Given the description of an element on the screen output the (x, y) to click on. 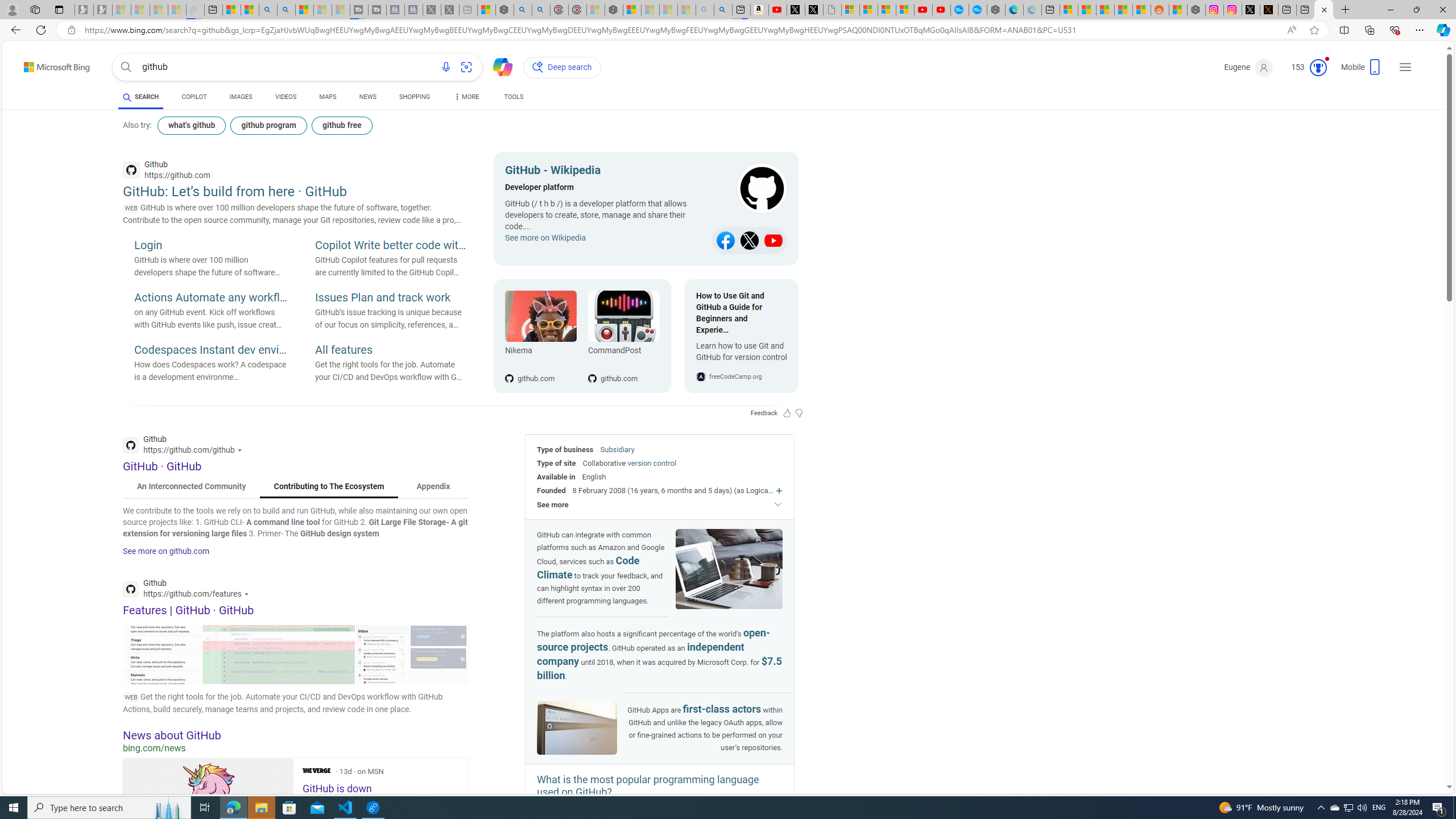
AutomationID: mfa_root (1406, 752)
github free (341, 125)
Amazon Echo Dot PNG - Search Images (722, 9)
help.x.com | 524: A timeout occurred (1268, 9)
See more on github.com (165, 551)
Shanghai, China Weather trends | Microsoft Weather (1142, 9)
Copilot Write better code with AI (391, 245)
COPILOT (193, 96)
github program (268, 125)
github - Search (1324, 9)
